Given the description of an element on the screen output the (x, y) to click on. 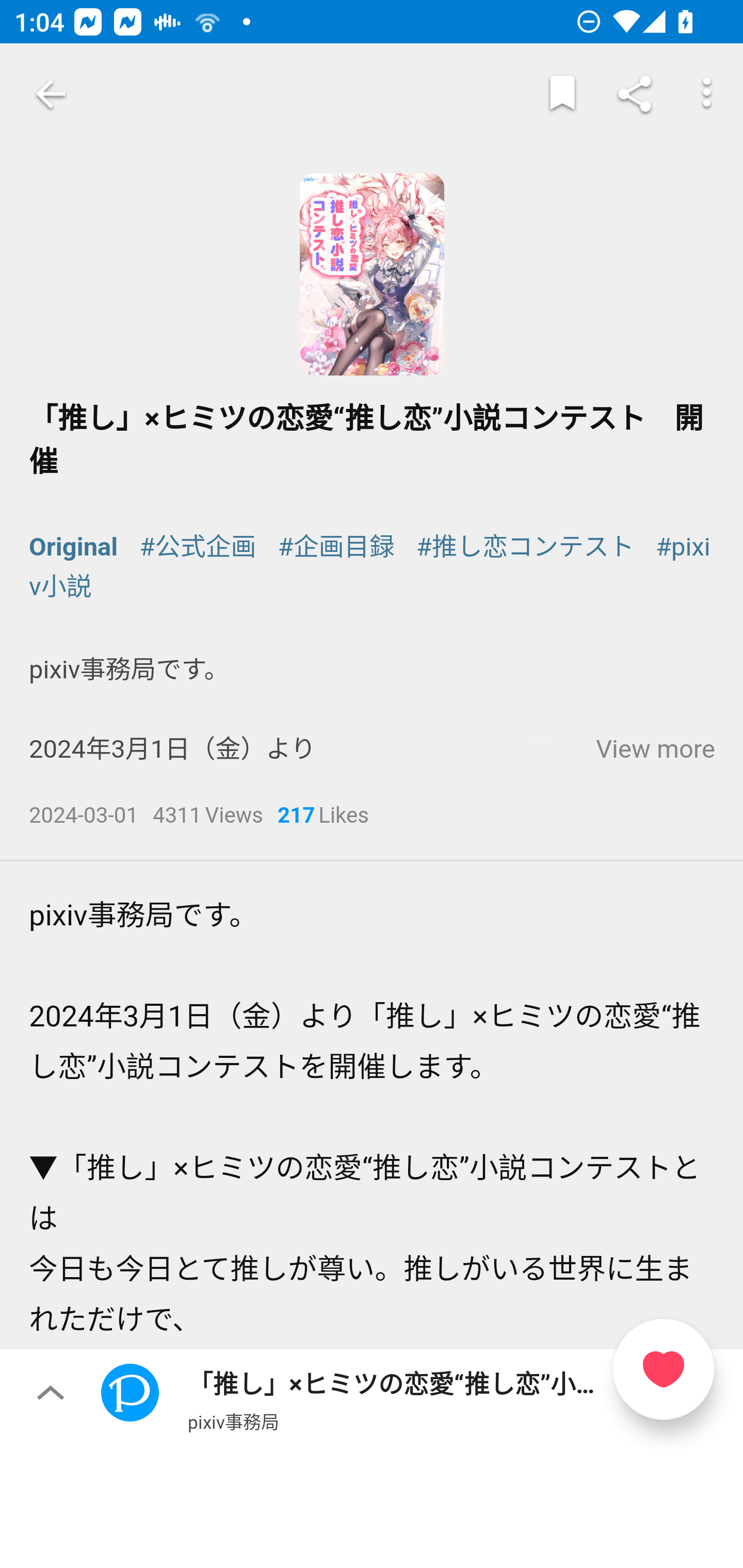
Navigate up (50, 93)
Markers (562, 93)
Share (634, 93)
More options (706, 93)
Original (73, 545)
#公式企画 (197, 545)
#企画目録 (335, 545)
#推し恋コンテスト (525, 545)
View more (654, 749)
217Likes (323, 816)
pixiv事務局 (233, 1421)
